Given the description of an element on the screen output the (x, y) to click on. 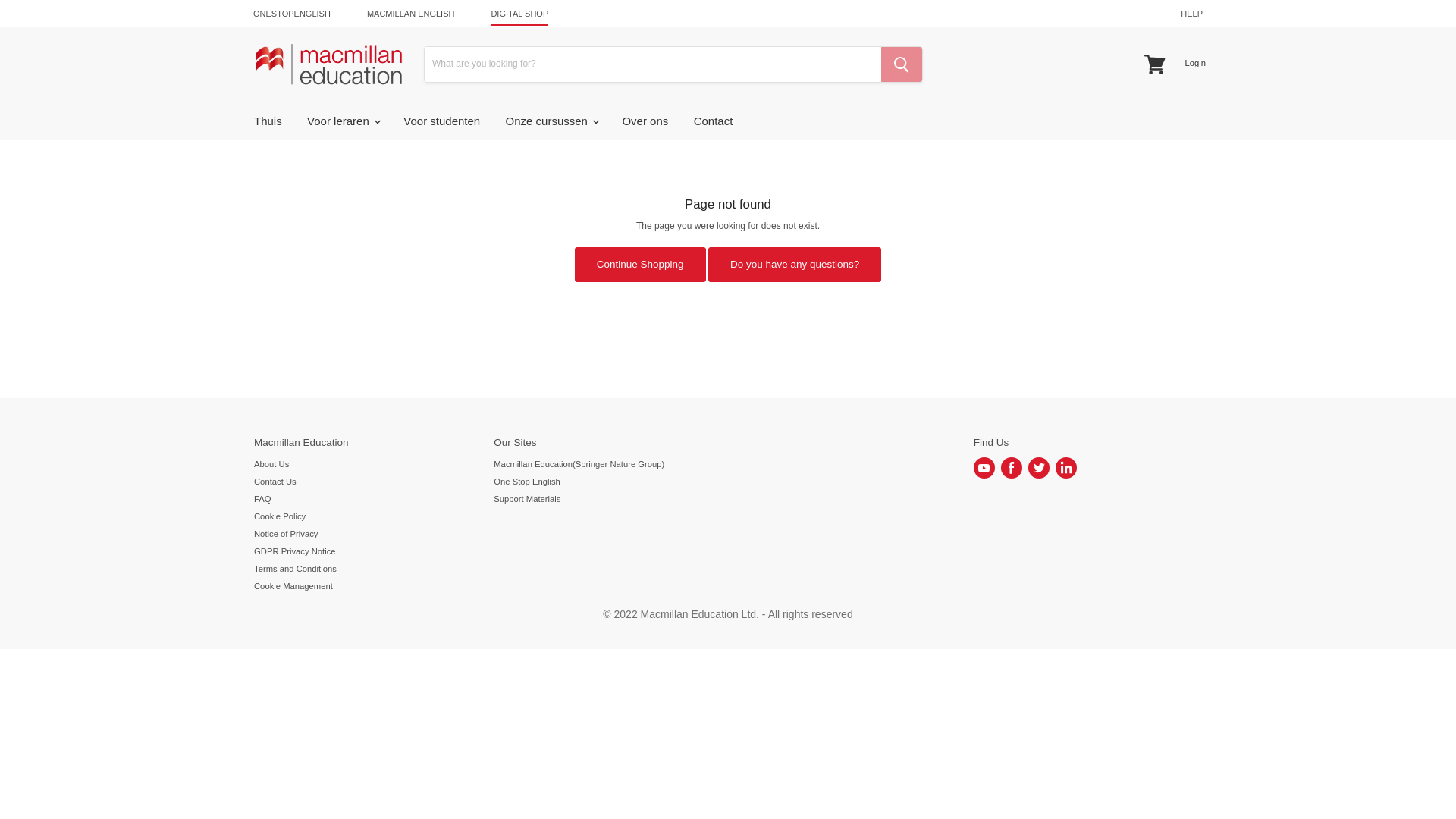
Facebook (1011, 467)
ONESTOPENGLISH (291, 13)
DIGITAL SHOP (519, 13)
LinkedIn (1066, 467)
MACMILLAN ENGLISH (410, 13)
Onze cursussen (551, 121)
Thuis (268, 121)
Twitter (1038, 467)
Youtube (984, 467)
HELP (1191, 13)
Login (1194, 62)
Voor leraren (342, 121)
Voor studenten (441, 121)
View cart (1155, 63)
